Given the description of an element on the screen output the (x, y) to click on. 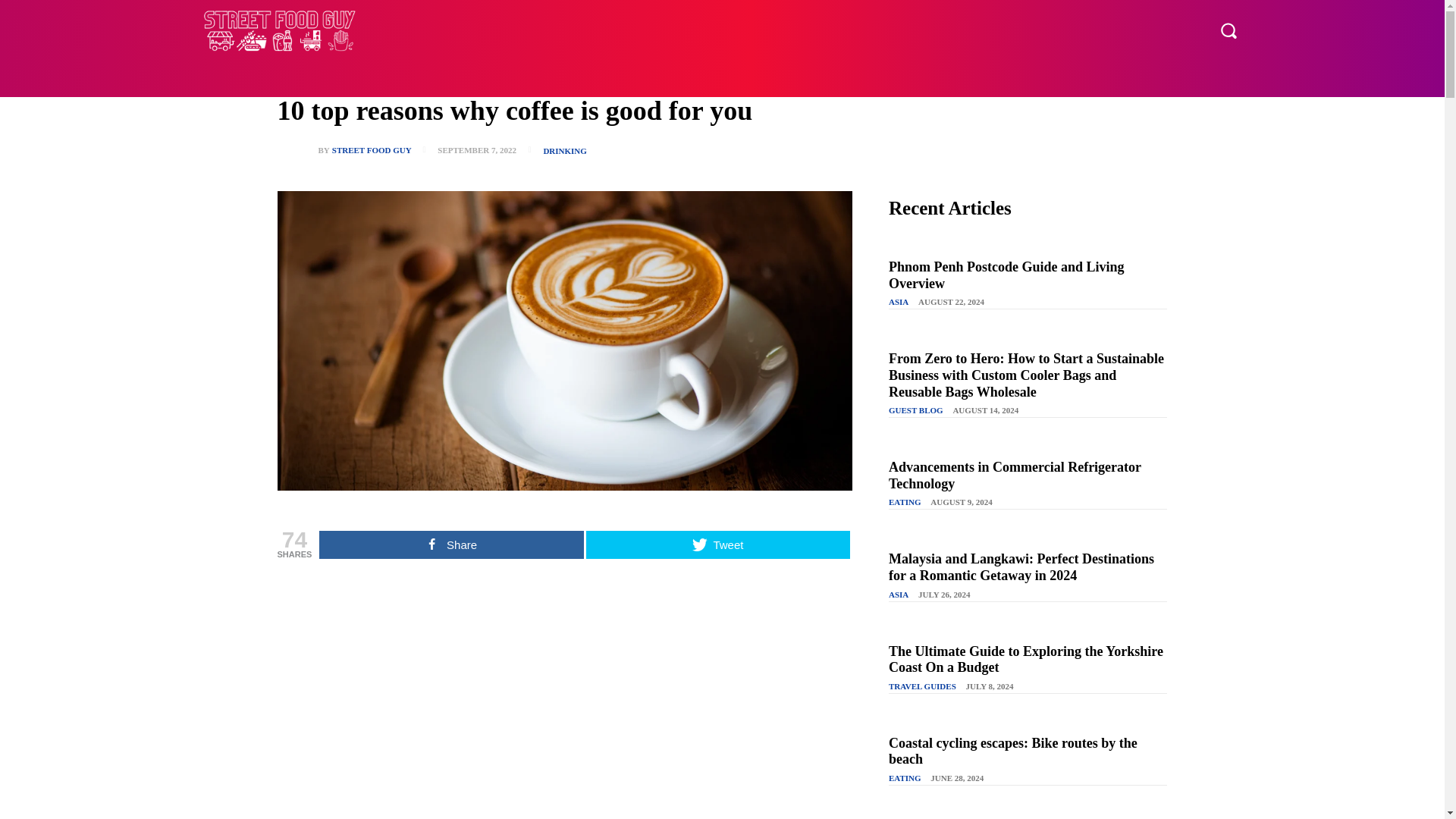
Phnom Penh Postcode Guide and Living Overview (1006, 275)
Street Food Guy (306, 150)
Street Food Guy (280, 30)
Coastal cycling escapes: Bike routes by the beach (1012, 751)
Advancements in Commercial Refrigerator Technology (1014, 475)
